Given the description of an element on the screen output the (x, y) to click on. 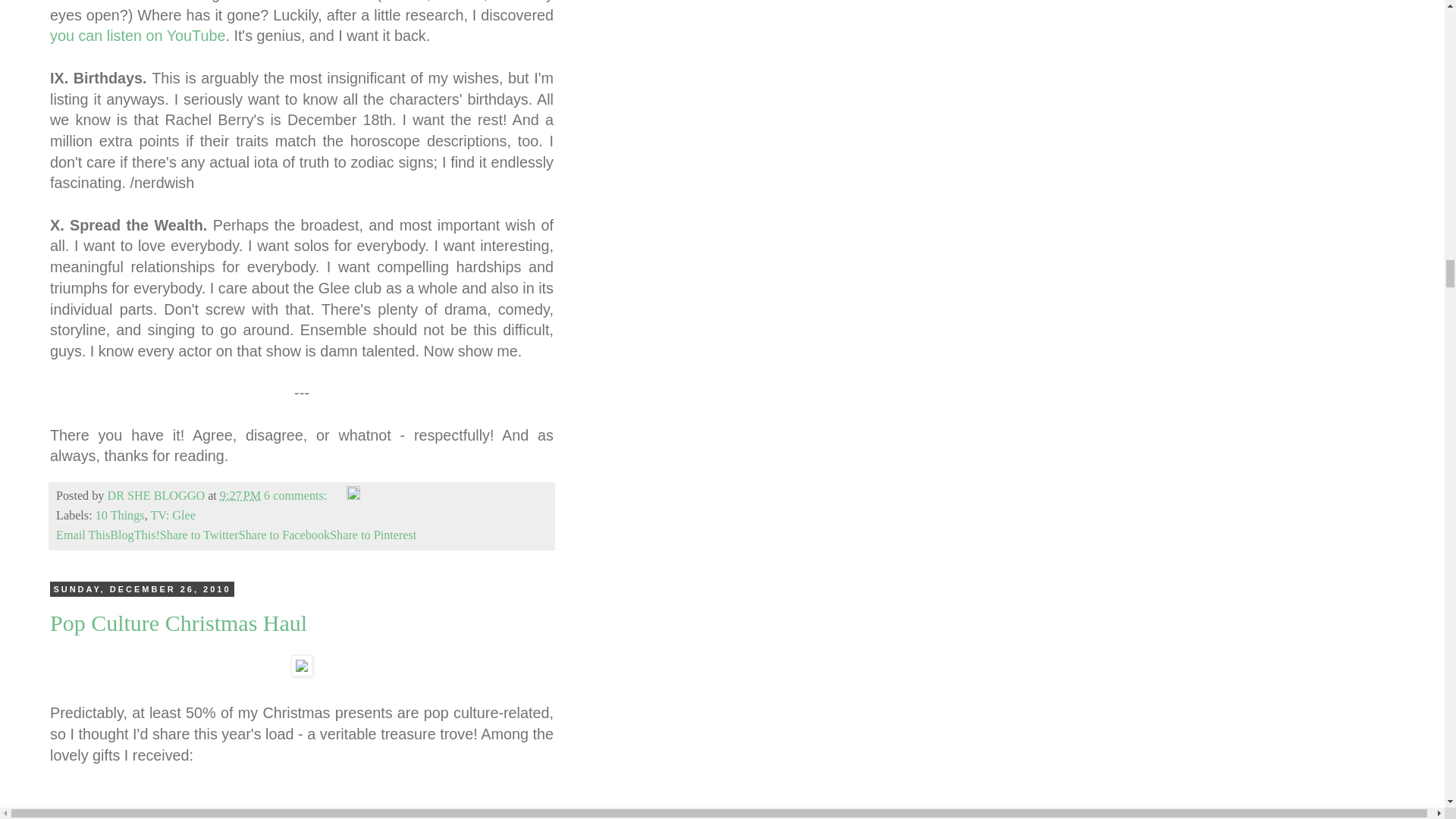
YouTube (196, 35)
BlogThis! (135, 535)
author profile (157, 495)
listen (123, 35)
10 Things (120, 515)
Email Post (338, 495)
DR SHE BLOGGO (157, 495)
Email This (83, 535)
you (61, 35)
6 comments: (296, 495)
permanent link (239, 495)
Email This (83, 535)
Edit Post (352, 495)
on (153, 35)
